Given the description of an element on the screen output the (x, y) to click on. 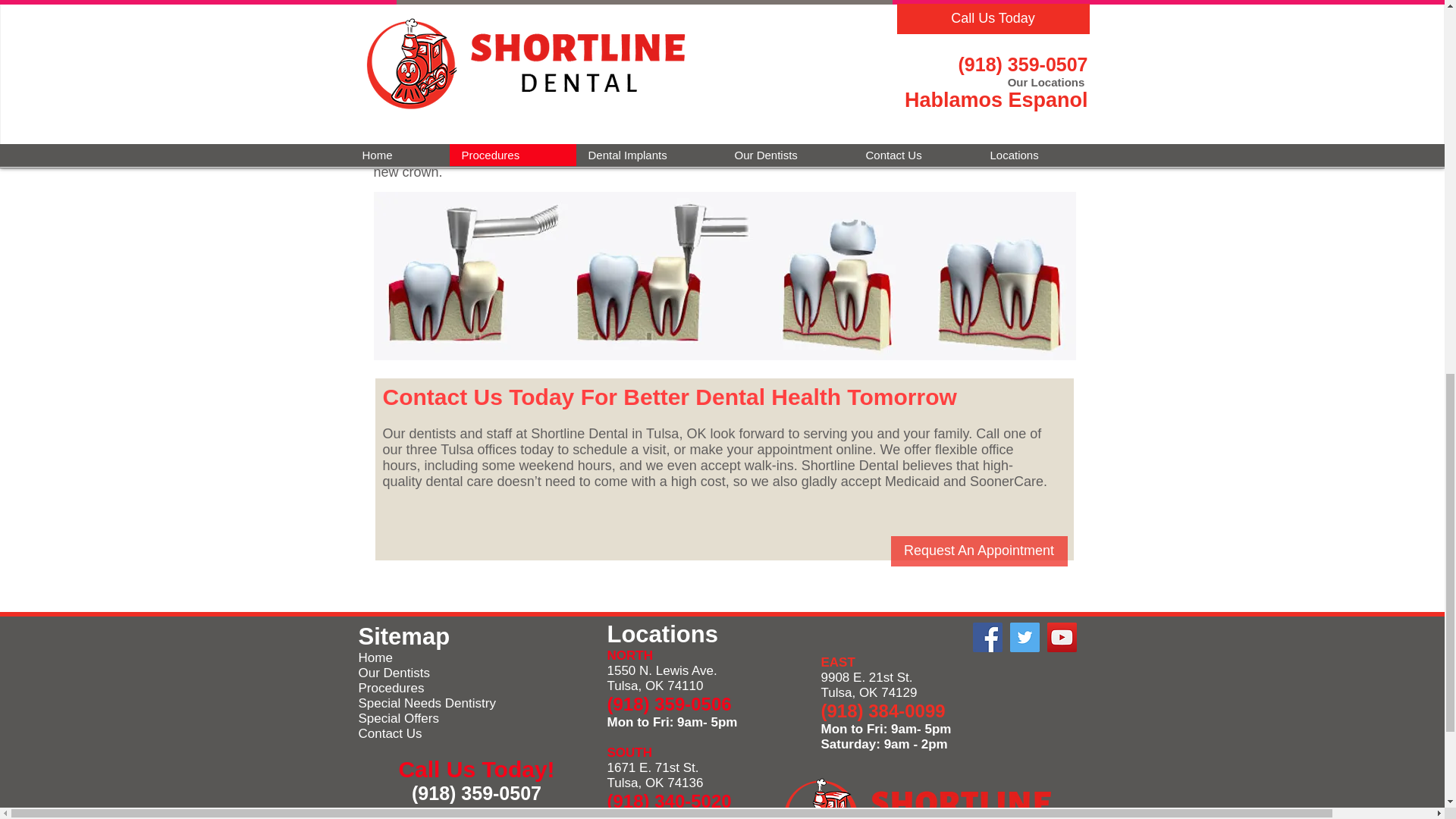
Special Needs Dentistry (426, 703)
Procedures (390, 687)
Special Offers (398, 718)
Home (374, 657)
Our Dentists (393, 672)
Request An Appointment (978, 551)
Contact Us (390, 733)
